Given the description of an element on the screen output the (x, y) to click on. 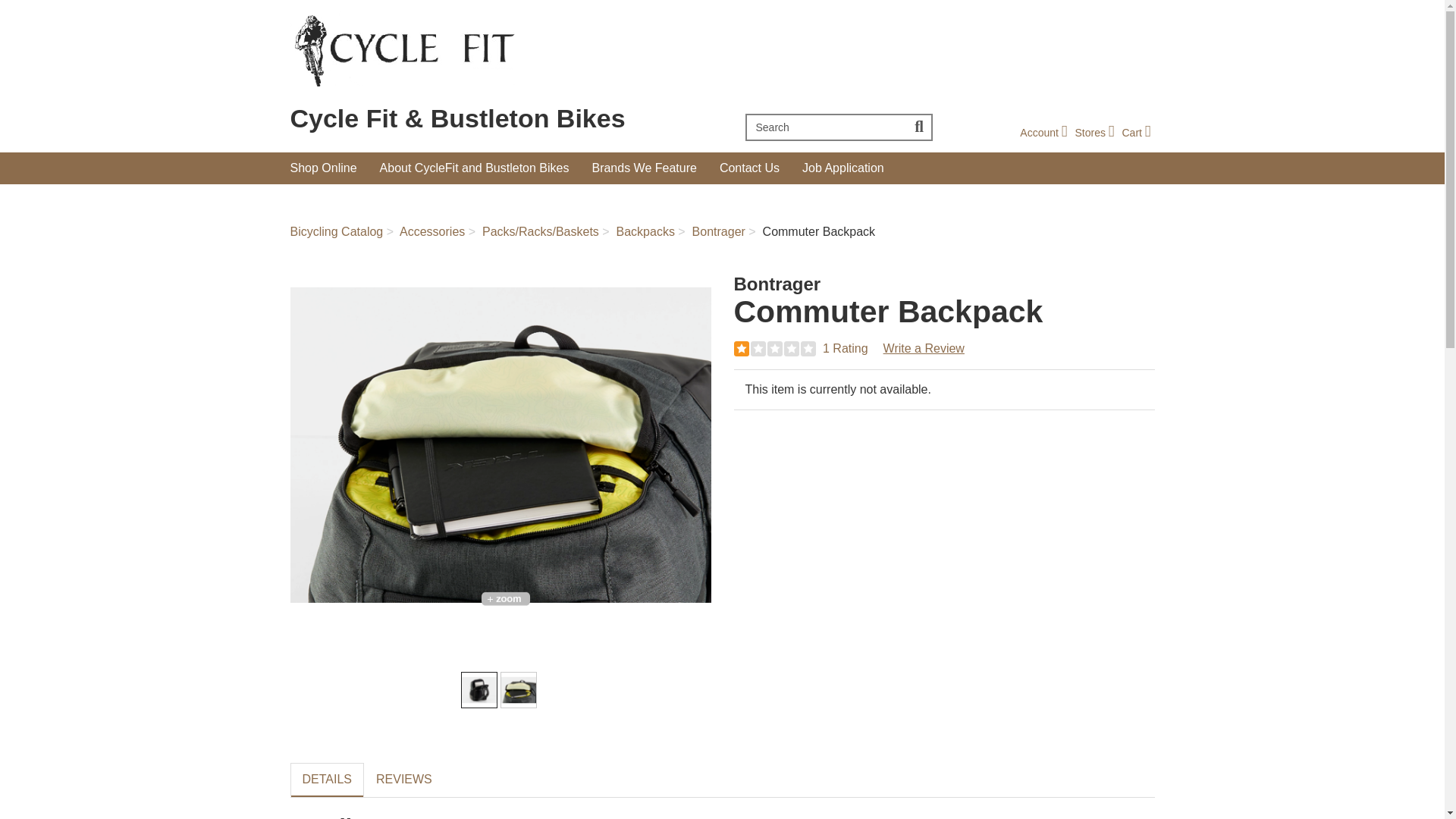
Cart (1135, 132)
Search (825, 126)
Bontrager Commuter Backpack  (499, 444)
Stores (1093, 132)
Shop Online (323, 168)
Account (1043, 132)
Search (1093, 132)
